Given the description of an element on the screen output the (x, y) to click on. 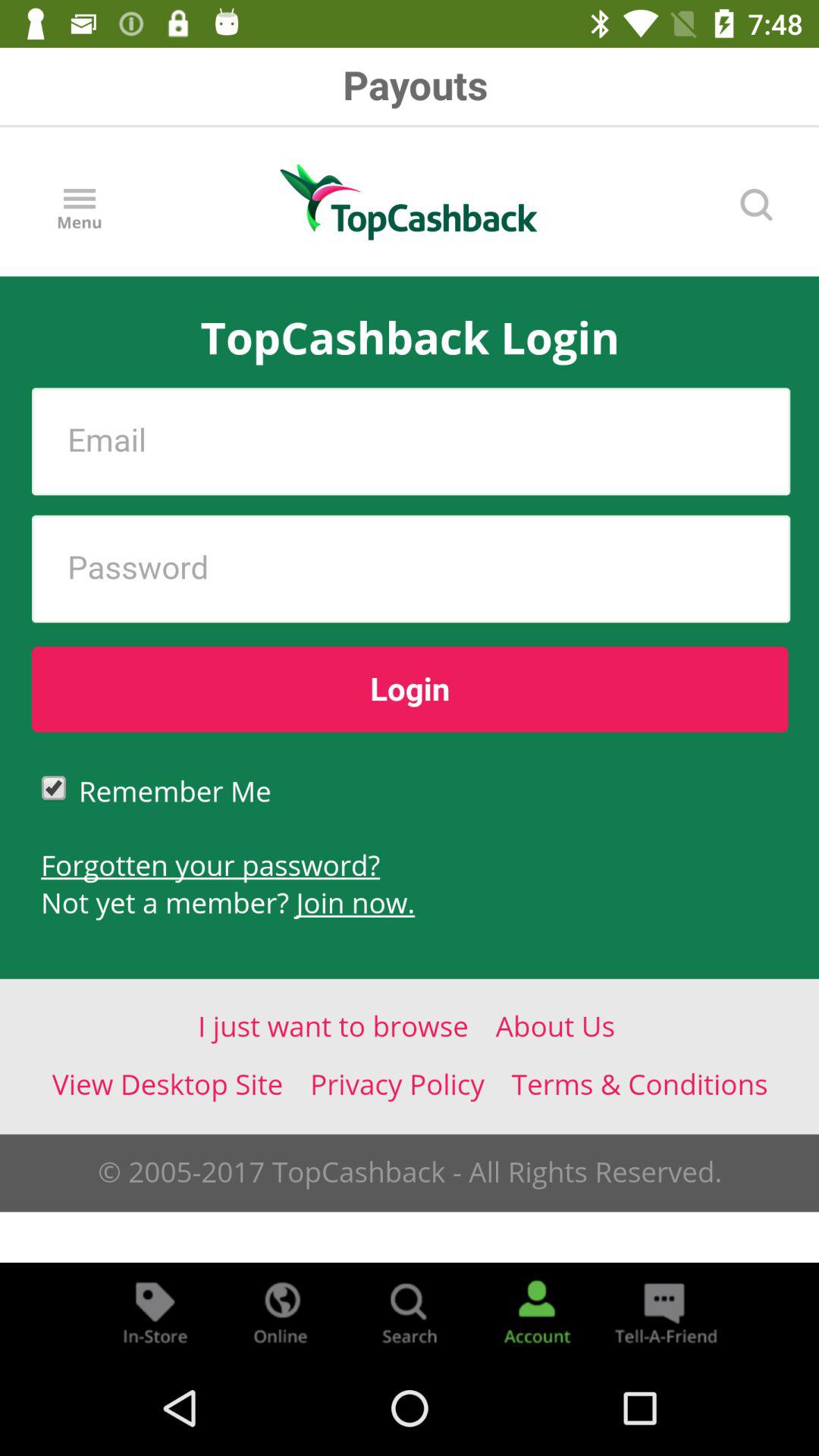
search menu (409, 1311)
